Given the description of an element on the screen output the (x, y) to click on. 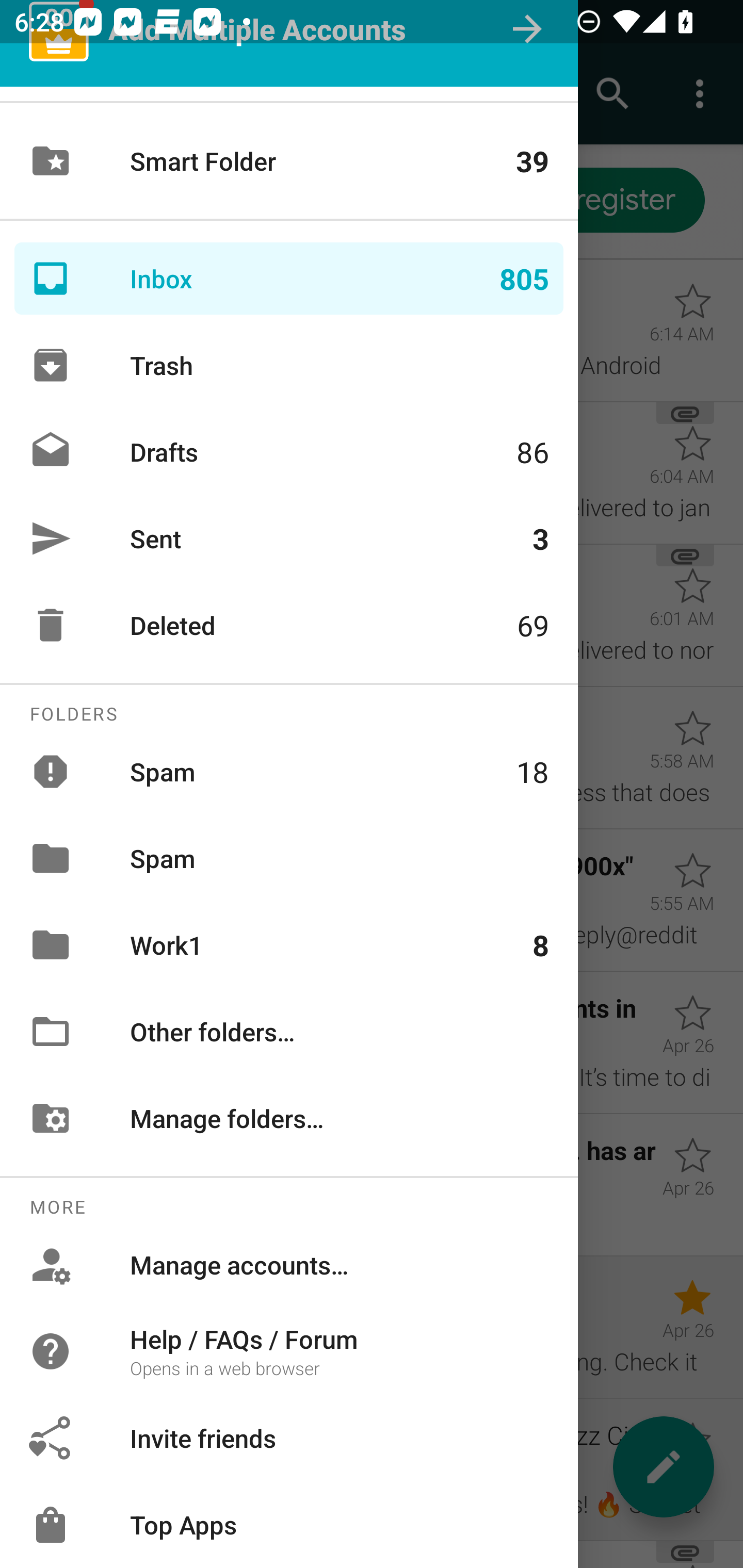
Smart Folder 39 (289, 160)
Inbox 805 (289, 278)
Trash (289, 365)
Drafts 86 (289, 452)
Sent 3 (289, 538)
Deleted 69 (289, 624)
Spam 18 (289, 771)
Spam (289, 858)
Work1 8 (289, 944)
Other folders… (289, 1031)
Manage folders… (289, 1118)
Manage accounts… (289, 1264)
Help / FAQs / Forum Opens in a web browser (289, 1350)
Invite friends (289, 1437)
Top Apps (289, 1524)
